Given the description of an element on the screen output the (x, y) to click on. 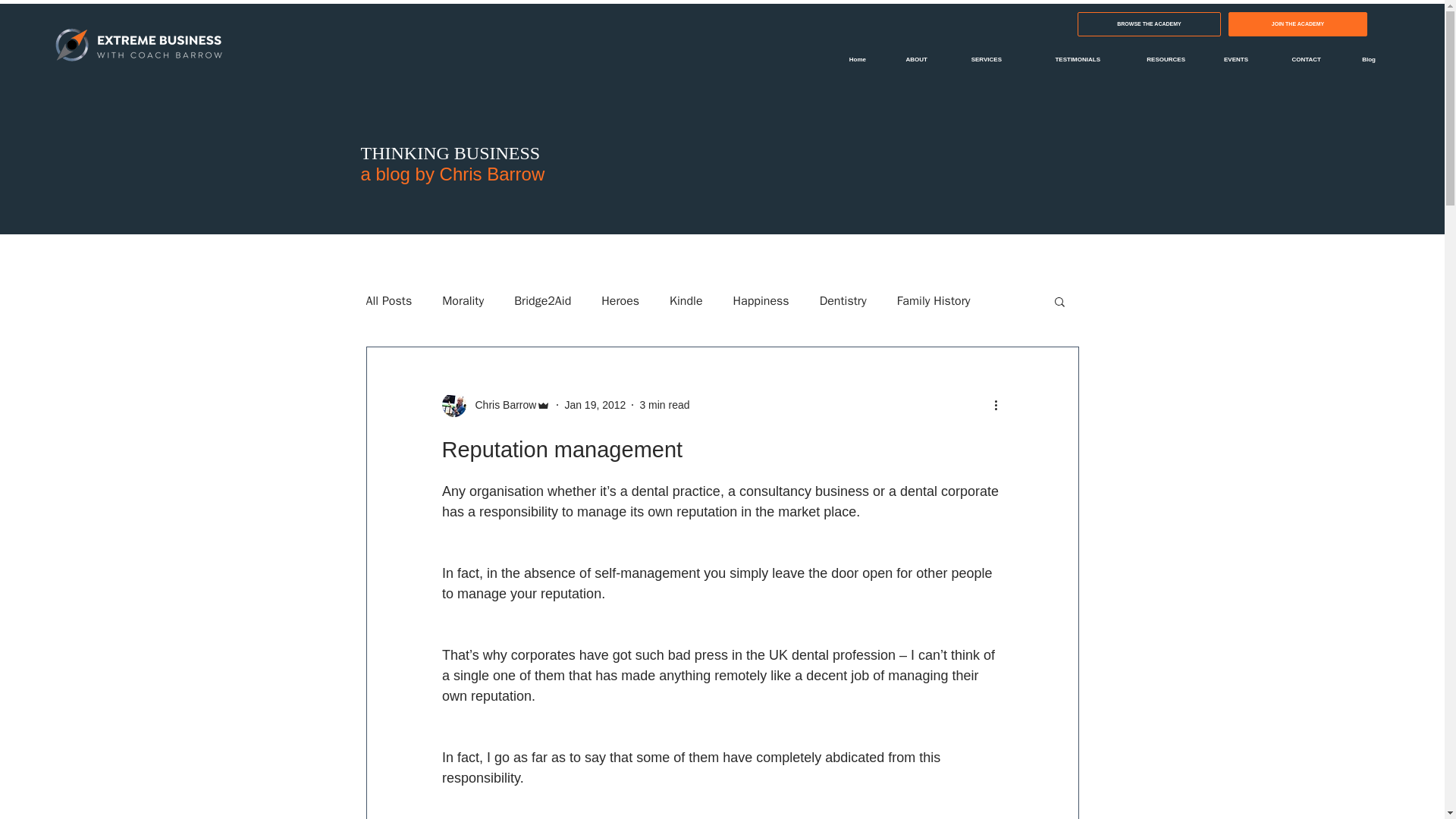
CONTACT (1295, 59)
Jan 19, 2012 (595, 404)
All Posts (388, 300)
Dentistry (842, 300)
Heroes (620, 300)
JOIN THE ACADEMY (1297, 24)
3 min read (663, 404)
Bridge2Aid (541, 300)
EVENTS (1227, 59)
TESTIMONIALS (1062, 59)
BROWSE THE ACADEMY (1149, 24)
RESOURCES (1154, 59)
ABOUT (908, 59)
Blog (1359, 59)
Morality (462, 300)
